Given the description of an element on the screen output the (x, y) to click on. 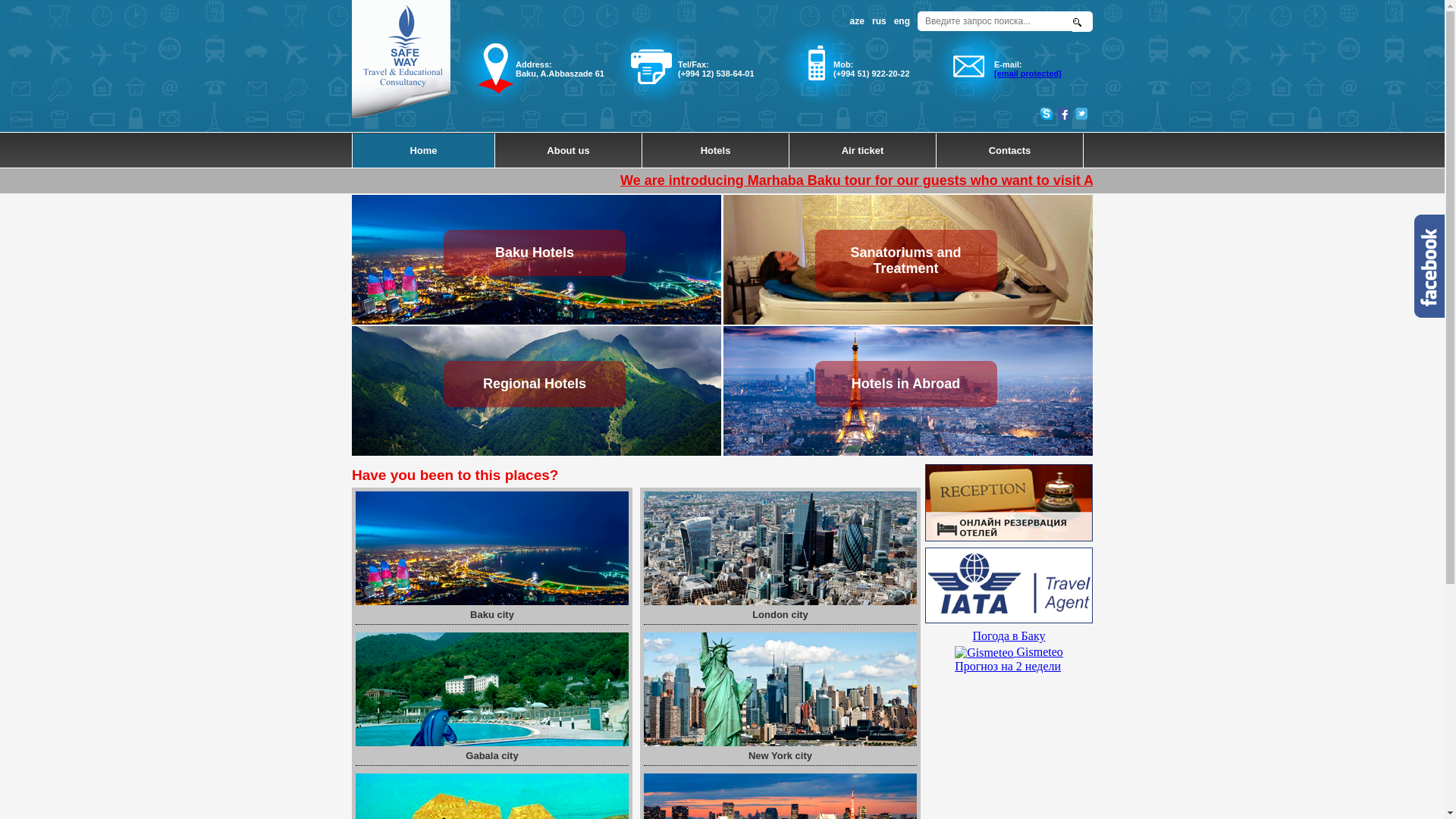
Regional Hotels Element type: text (536, 390)
Sanatoriums and Treatment Element type: text (907, 259)
aze Element type: text (857, 20)
Gismeteo Element type: text (1008, 651)
eng Element type: text (902, 20)
rus Element type: text (879, 20)
About us Element type: text (568, 150)
Air ticket Element type: text (862, 150)
Hotels Element type: text (715, 150)
Hotels in Abroad Element type: text (907, 390)
Baku Hotels Element type: text (536, 259)
Contacts Element type: text (1009, 150)
Gismeteo Element type: hover (983, 652)
Home Element type: text (423, 150)
[email protected] Element type: text (1027, 73)
